Given the description of an element on the screen output the (x, y) to click on. 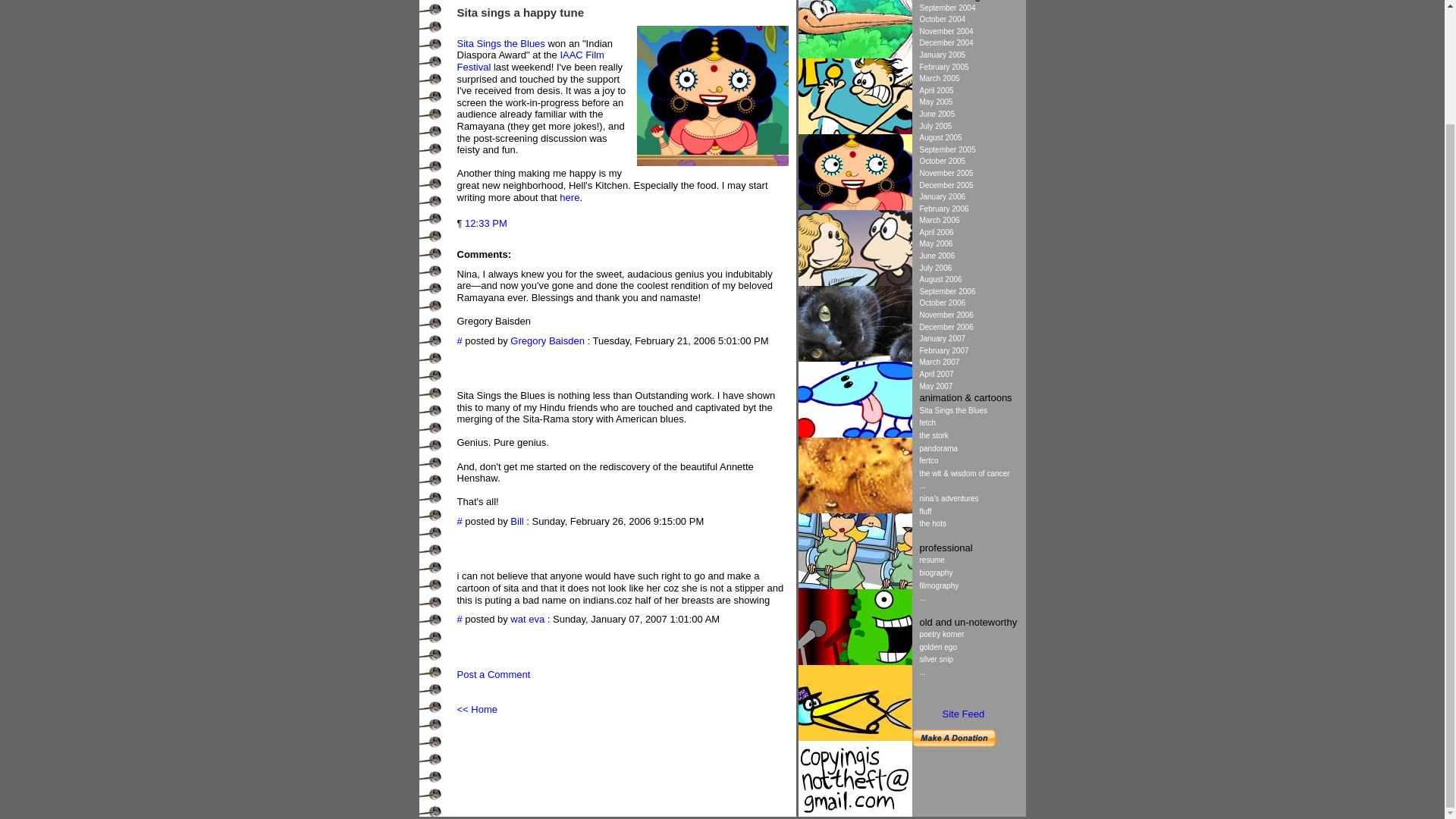
Sita Sings the Blues (500, 43)
The Stork (854, 54)
Pandorama (854, 509)
Post a Comment (493, 674)
February 2005 (943, 67)
Bruno (854, 357)
Bill (516, 521)
Gregory Baisden (548, 340)
wat eva (527, 618)
permanent link (485, 223)
Fetch! (854, 433)
December 2004 (945, 42)
January 2005 (941, 54)
The Hots (854, 282)
IAAC Film Festival (530, 60)
